Given the description of an element on the screen output the (x, y) to click on. 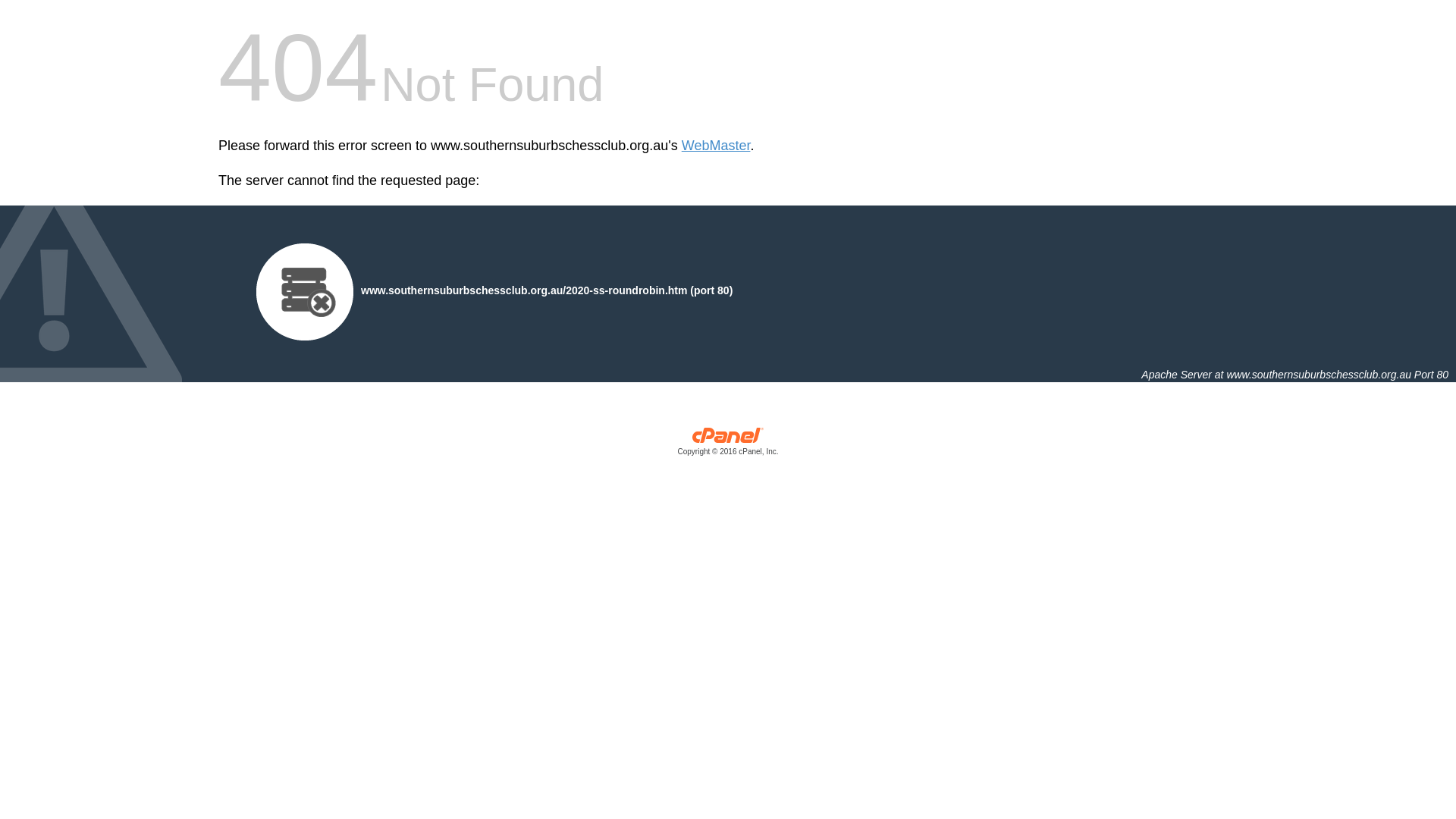
WebMaster Element type: text (715, 145)
